Given the description of an element on the screen output the (x, y) to click on. 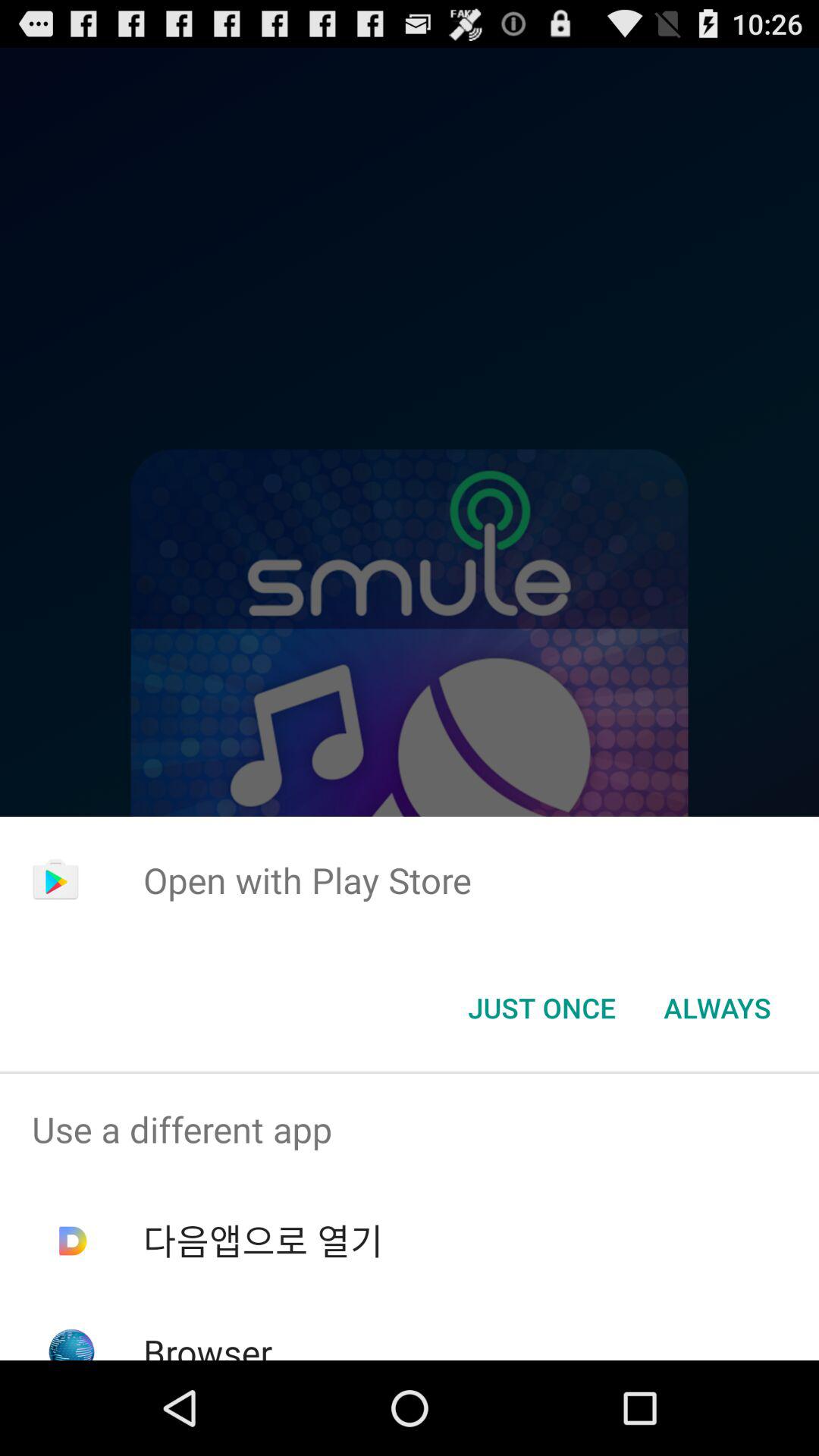
choose the always (717, 1007)
